Given the description of an element on the screen output the (x, y) to click on. 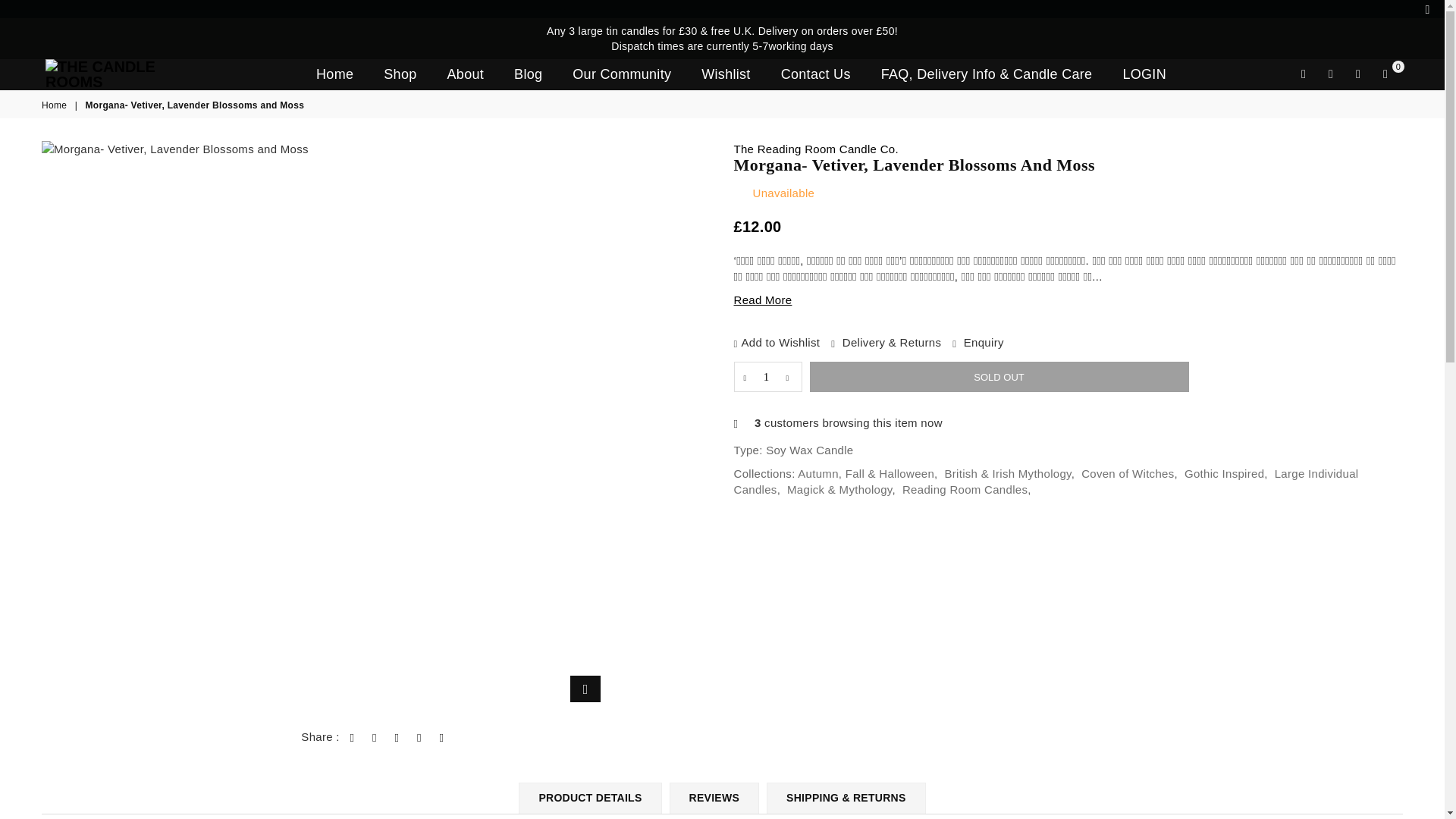
Settings (1330, 74)
Home (334, 73)
Shop (400, 73)
THE CANDLE ROOMS (132, 73)
Back to the home page (55, 105)
The Reading Room Candle Co. (815, 148)
Cart (1385, 74)
Search (1303, 74)
Wishlist (1357, 74)
Quantity (767, 376)
